Given the description of an element on the screen output the (x, y) to click on. 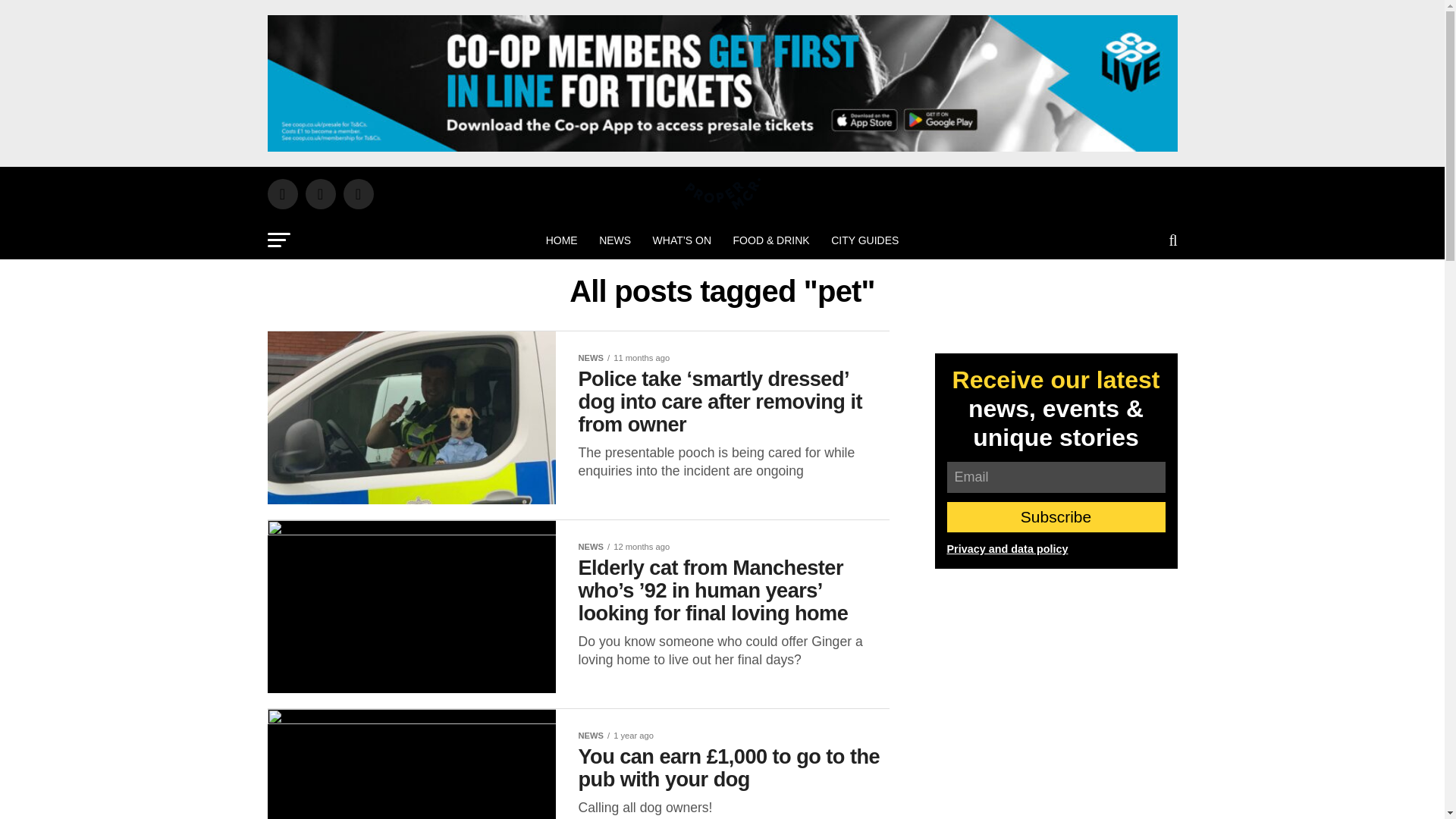
NEWS (614, 240)
Subscribe (1055, 517)
Subscribe (1055, 517)
Privacy and data policy (1006, 548)
HOME (561, 240)
CITY GUIDES (864, 240)
